Given the description of an element on the screen output the (x, y) to click on. 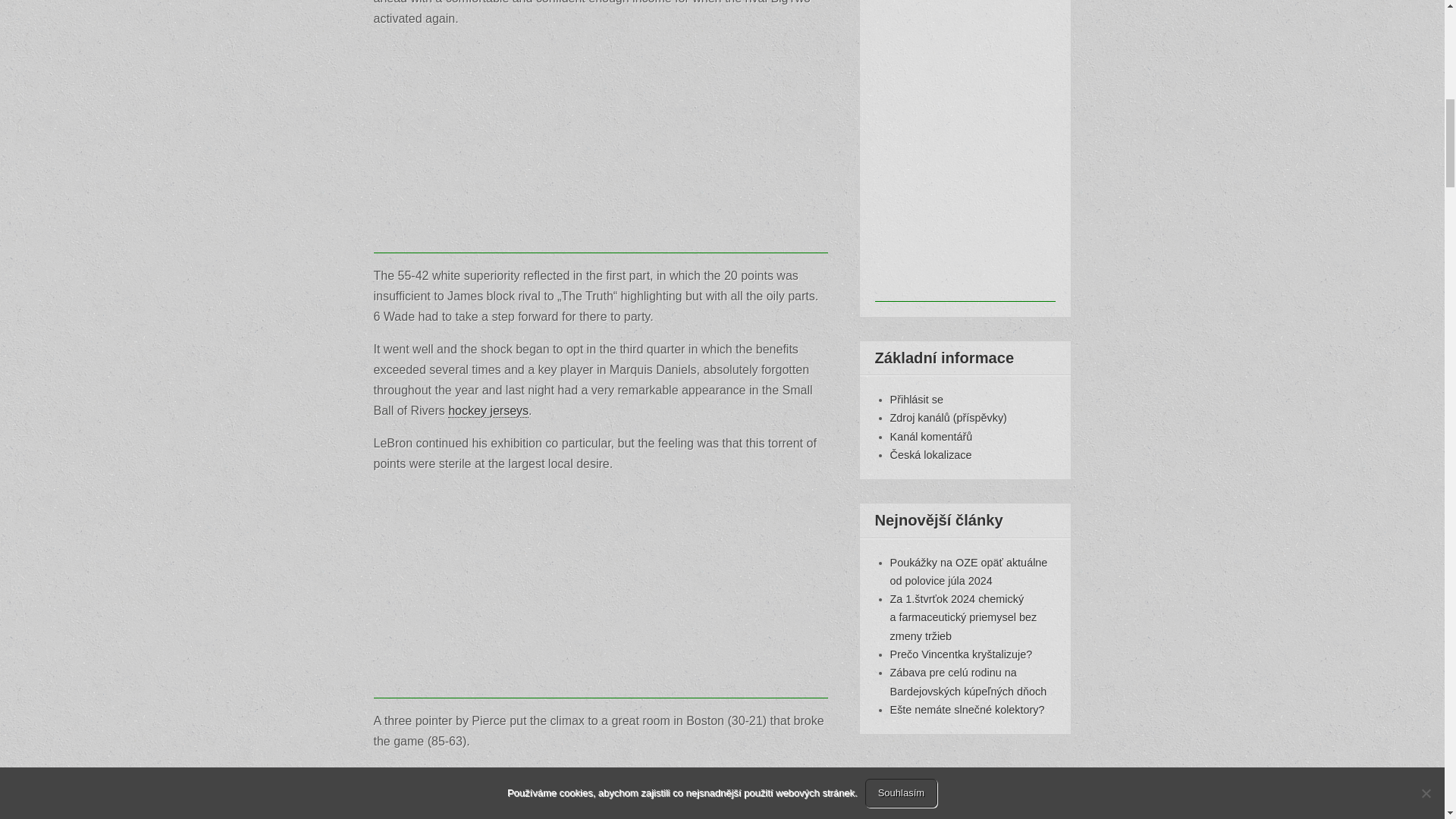
Advertisement (600, 592)
NHL hockey jerseys (522, 813)
Advertisement (600, 146)
hockey jerseys (488, 410)
